Given the description of an element on the screen output the (x, y) to click on. 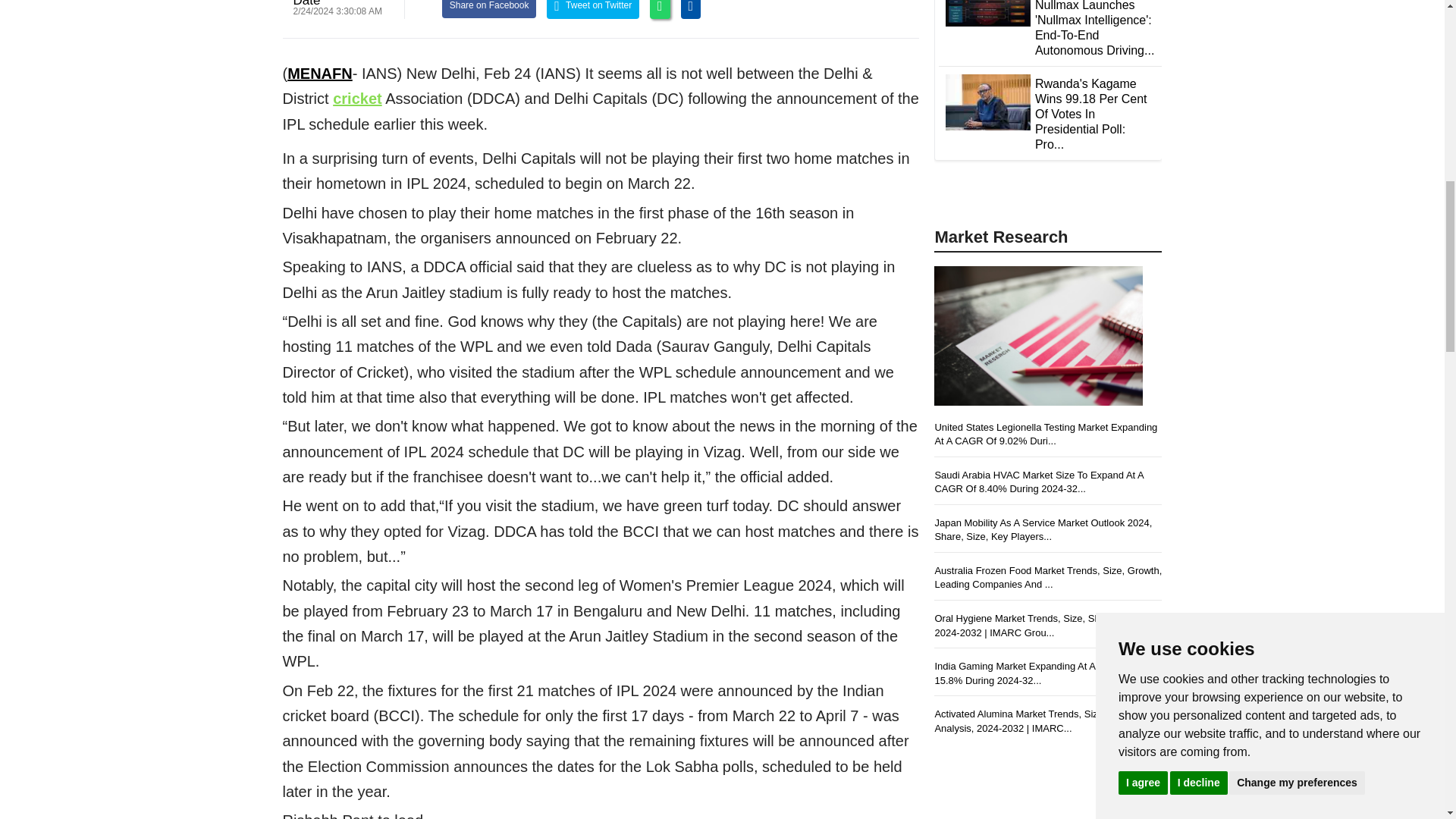
Posts by NewEdge (306, 3)
Share on linkedin (691, 9)
